Given the description of an element on the screen output the (x, y) to click on. 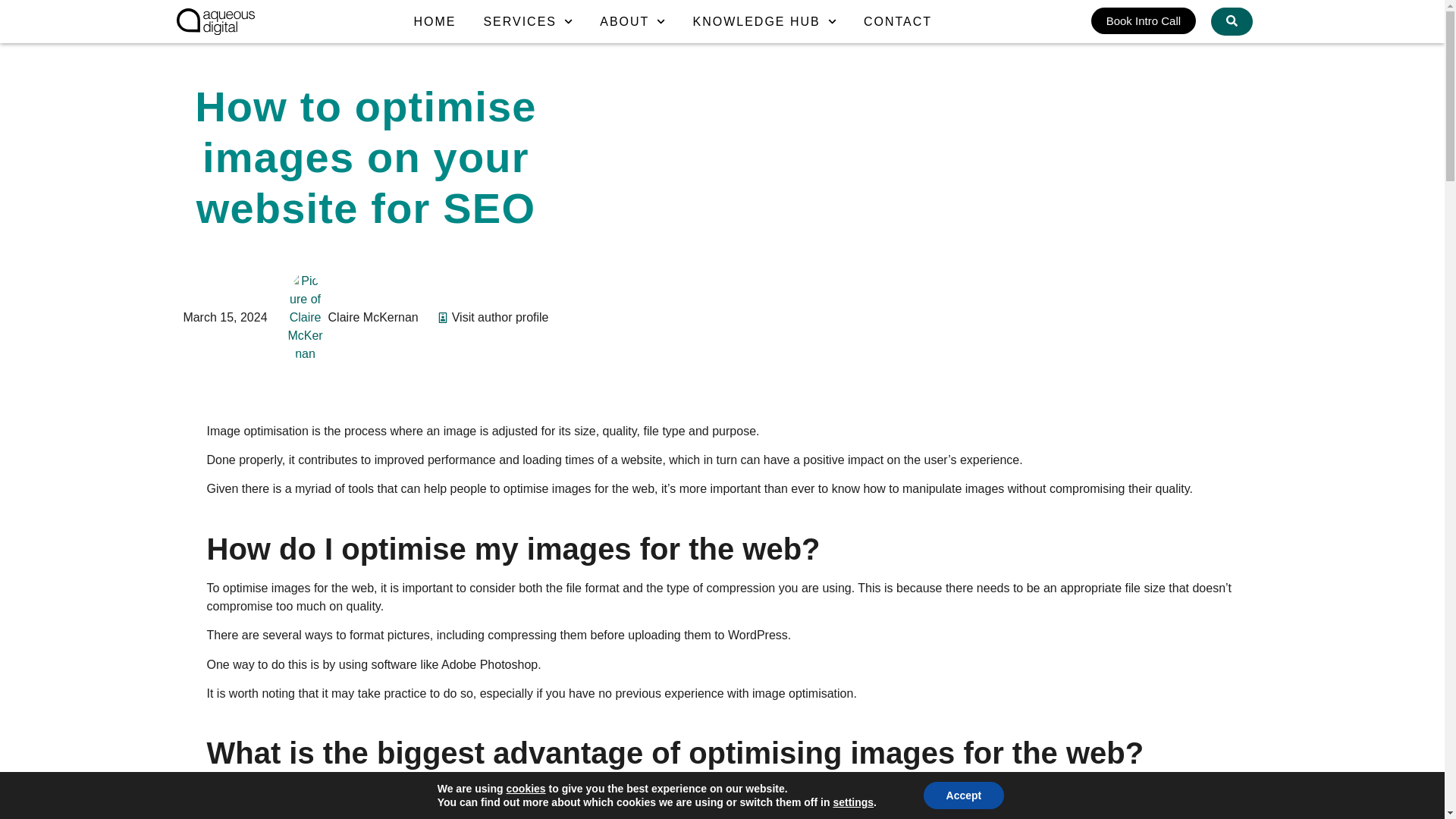
aqueous-logo (214, 21)
KNOWLEDGE HUB (765, 21)
ABOUT (632, 21)
SERVICES (527, 21)
CONTACT (897, 21)
HOME (434, 21)
